Given the description of an element on the screen output the (x, y) to click on. 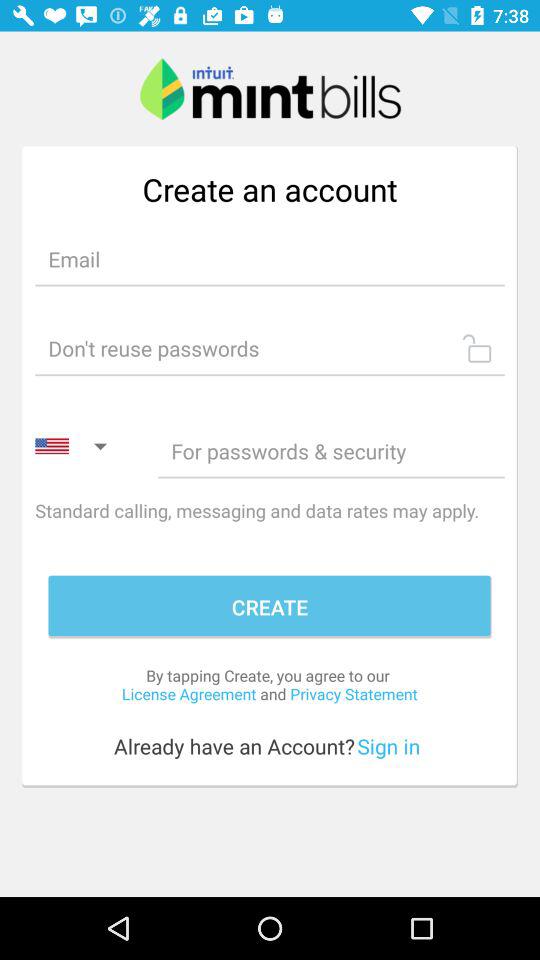
enter your password (269, 348)
